Given the description of an element on the screen output the (x, y) to click on. 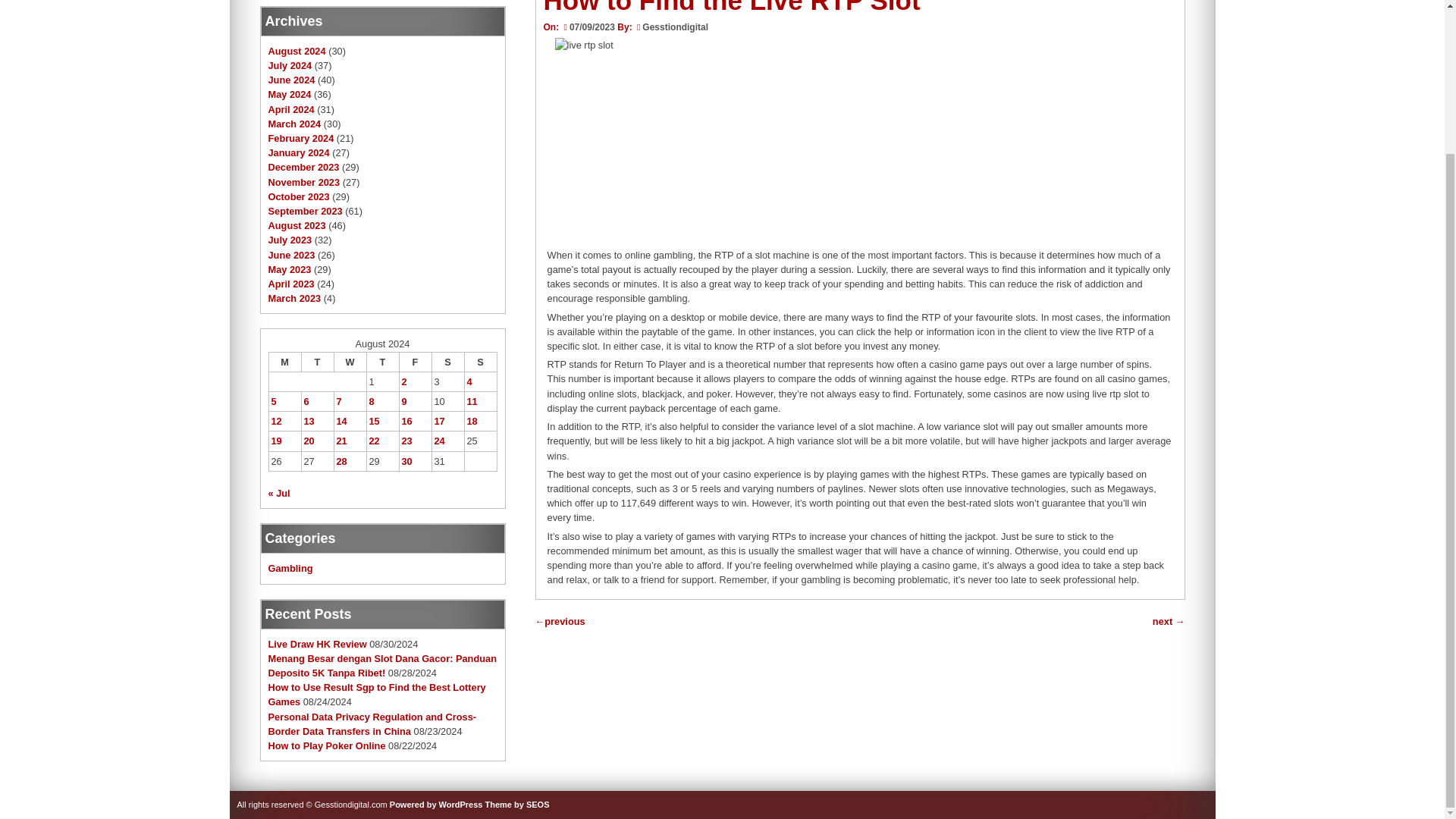
January 2024 (298, 152)
July 2024 (290, 65)
June 2024 (291, 79)
Thursday (382, 361)
May 2024 (289, 93)
February 2024 (300, 138)
Sunday (480, 361)
Wednesday (349, 361)
Tuesday (317, 361)
11 (472, 401)
